Given the description of an element on the screen output the (x, y) to click on. 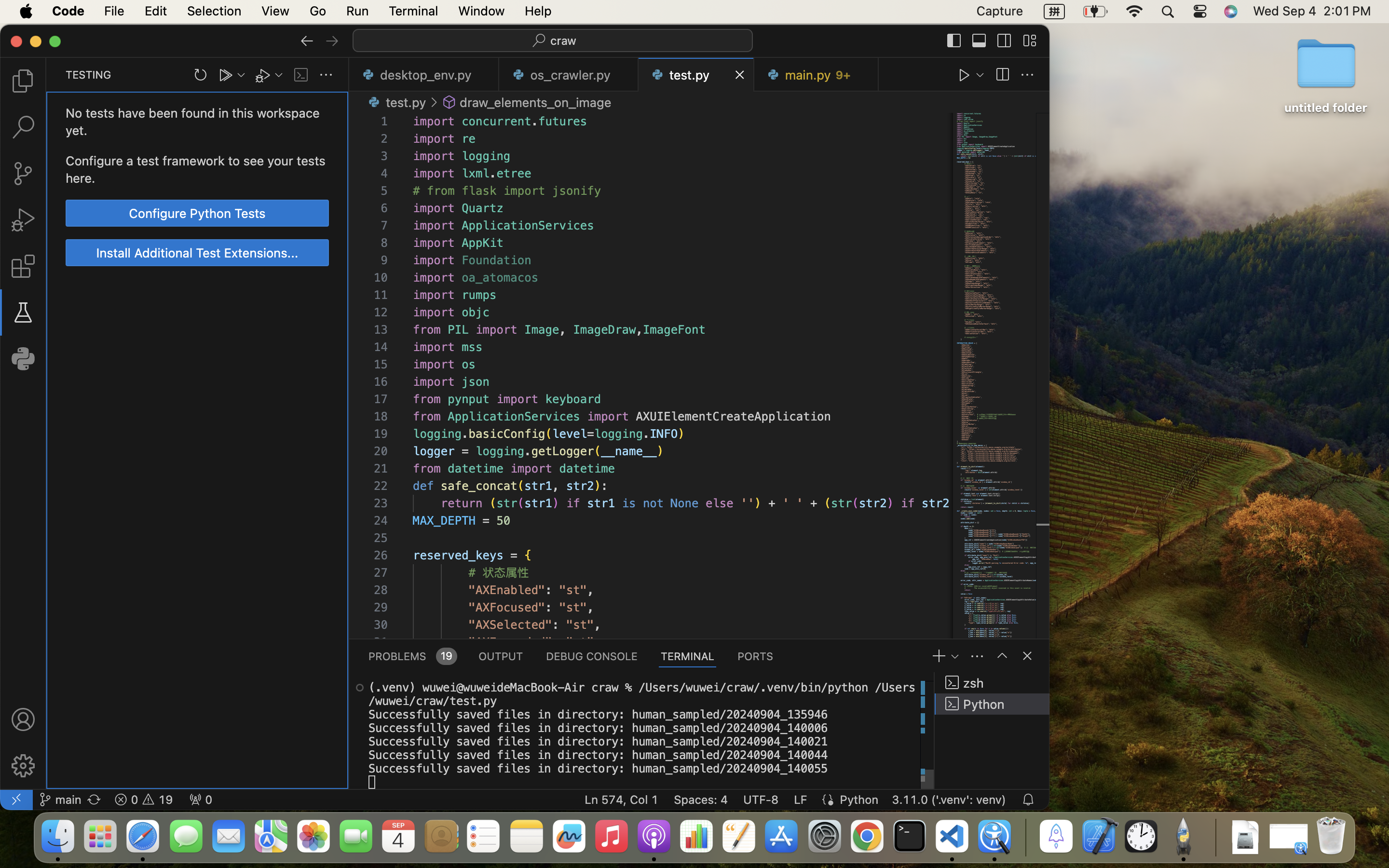
 Element type: AXStaticText (449, 101)
0 OUTPUT Element type: AXRadioButton (500, 655)
0  Element type: AXRadioButton (23, 80)
1  Element type: AXRadioButton (23, 312)
 Element type: AXStaticText (22, 765)
